Given the description of an element on the screen output the (x, y) to click on. 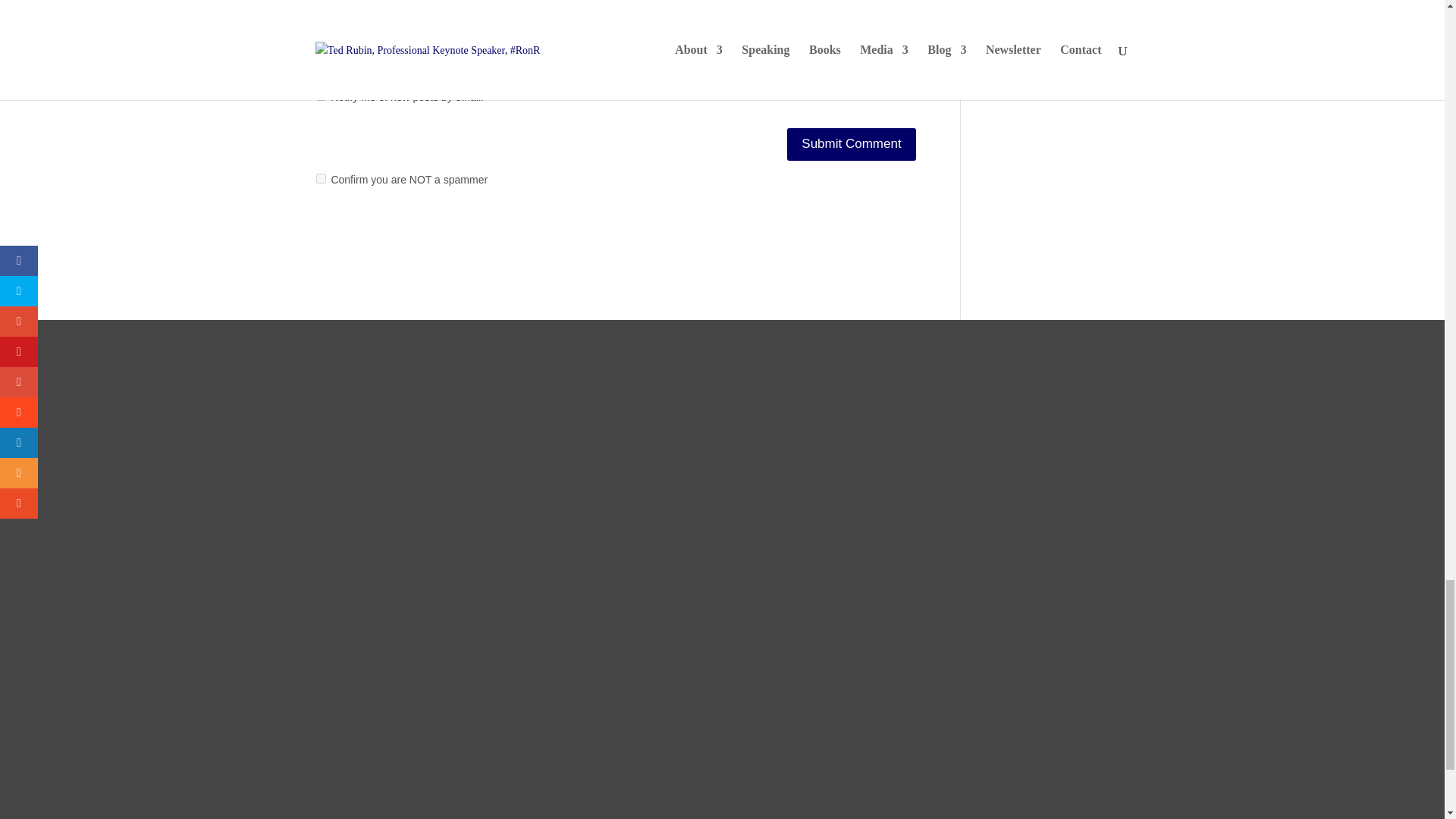
on (319, 178)
Submit Comment (851, 143)
subscribe (319, 95)
subscribe (319, 56)
